Given the description of an element on the screen output the (x, y) to click on. 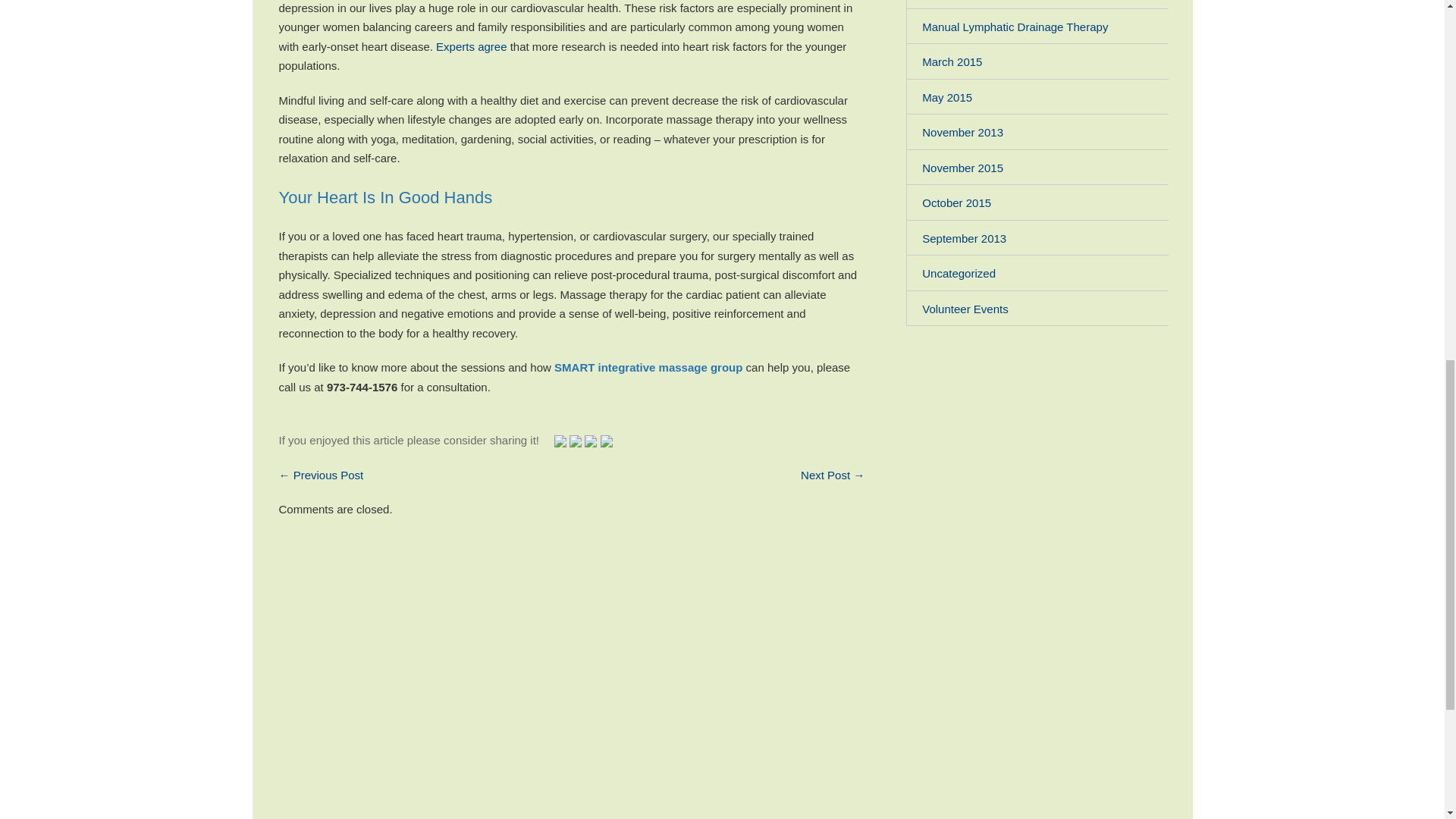
twitter (560, 440)
digg (605, 440)
facebook (590, 440)
Share on StumbleUpon! (574, 440)
upon (574, 440)
Share on Facebook (590, 440)
Digg This! (605, 440)
Tweet this! (560, 440)
